Given the description of an element on the screen output the (x, y) to click on. 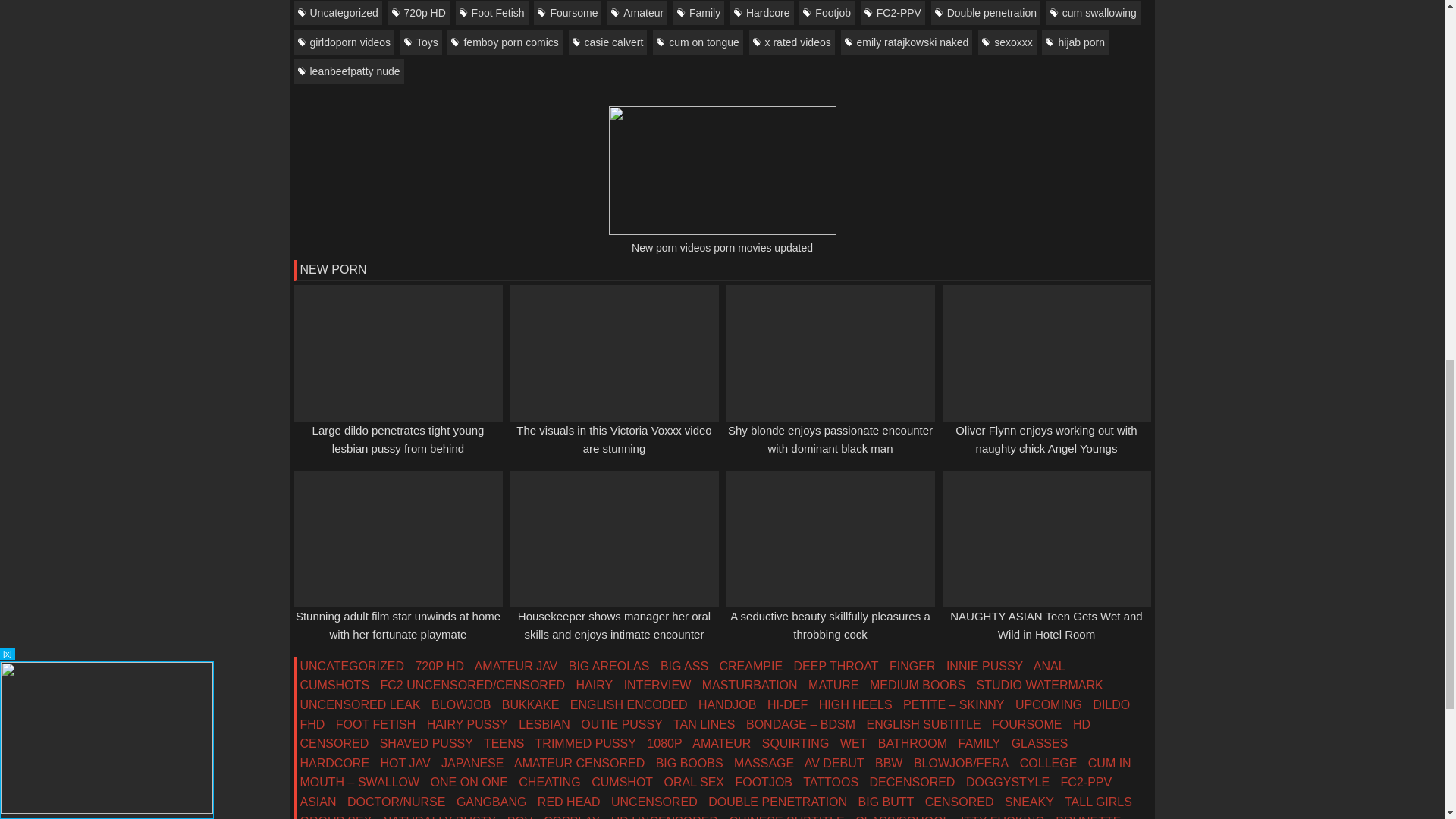
720p HD (418, 12)
Toys (421, 42)
Uncategorized (337, 12)
Amateur (636, 12)
cum swallowing (1093, 12)
girldoporn videos (344, 42)
Hardcore (761, 12)
Foot Fetish (491, 12)
Footjob (826, 12)
casie calvert (608, 42)
femboy porn comics (504, 42)
cum on tongue (697, 42)
Family (697, 12)
emily ratajkowski naked (906, 42)
x rated videos (791, 42)
